Given the description of an element on the screen output the (x, y) to click on. 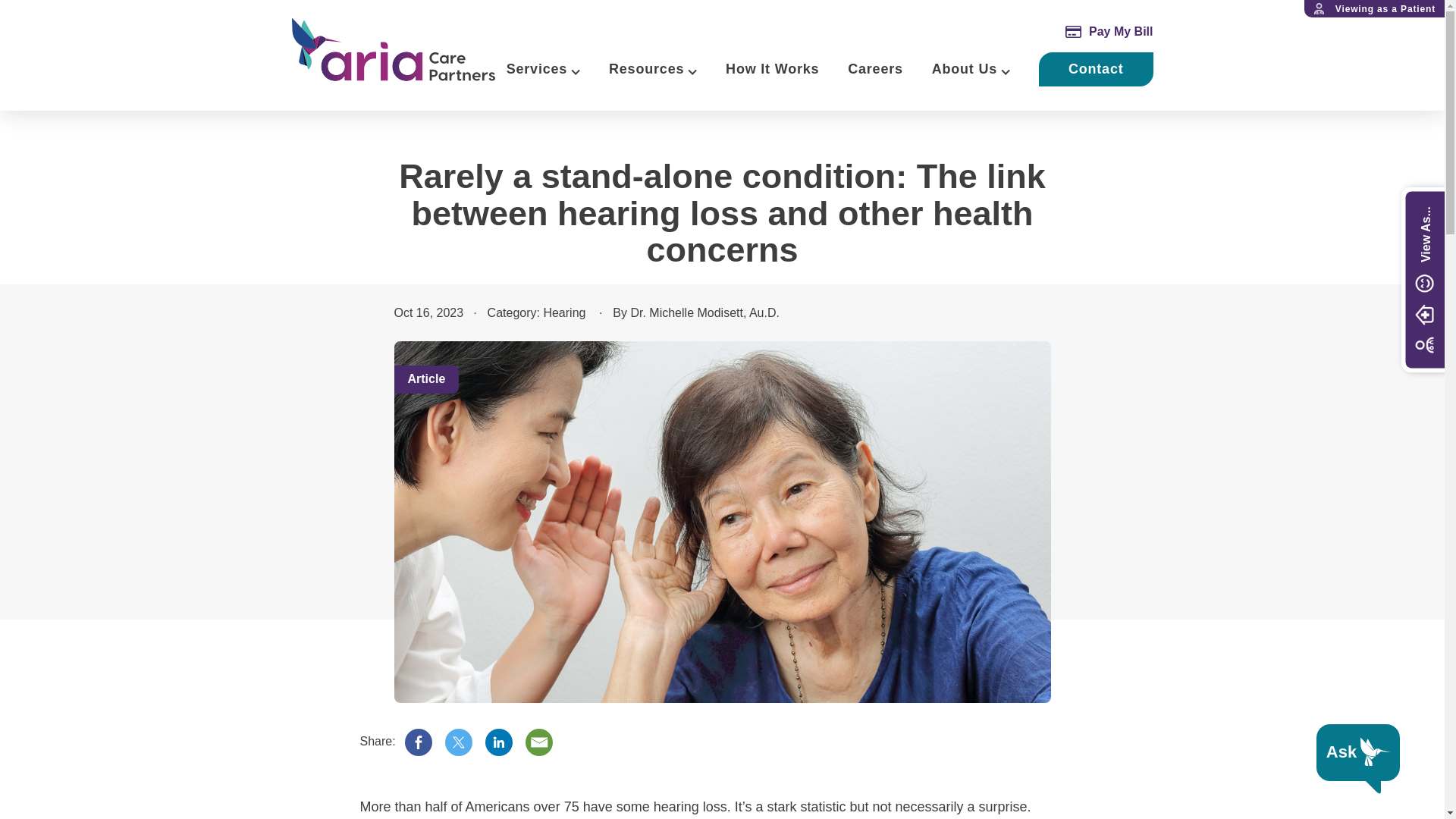
Home Page (393, 49)
Share to Facebook (418, 741)
Contact (1096, 69)
About Us (964, 69)
LinkedIn (498, 741)
Send Page in an email (539, 741)
Services (536, 69)
Resources (646, 69)
Facebook (418, 741)
Pay My Bill (1109, 31)
